Given the description of an element on the screen output the (x, y) to click on. 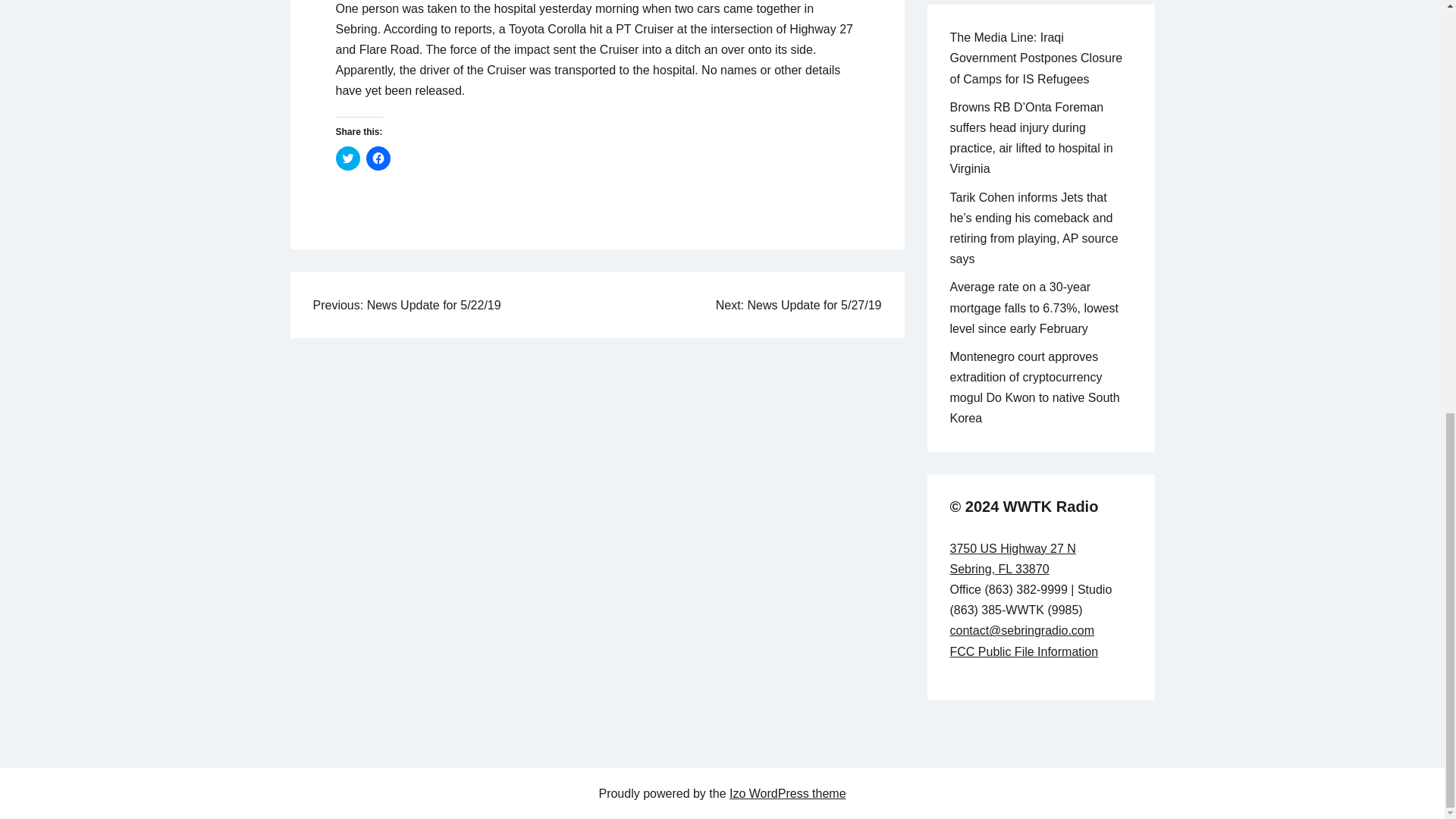
Click to share on Twitter (346, 158)
Click to share on Facebook (377, 158)
